Given the description of an element on the screen output the (x, y) to click on. 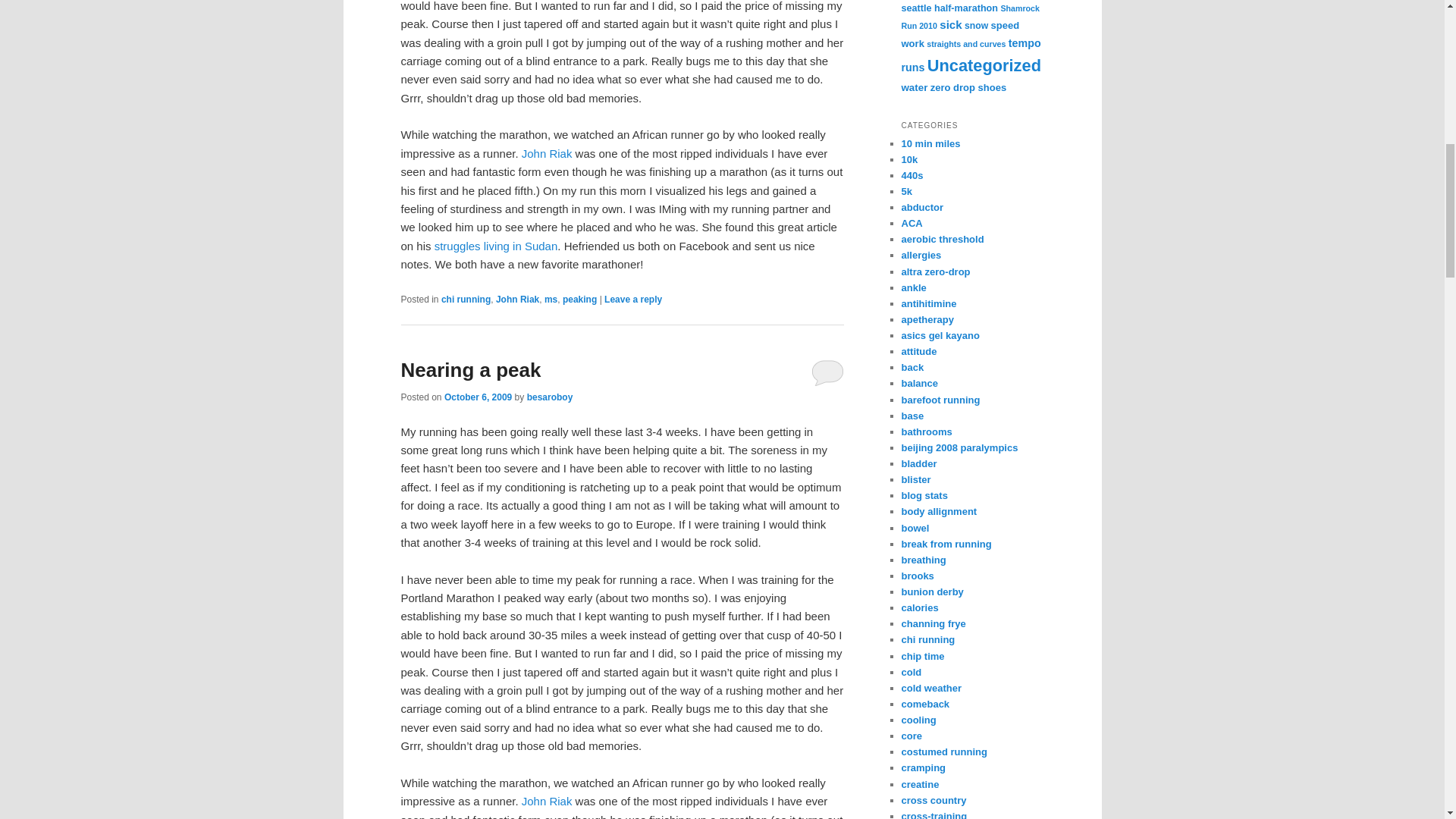
John Riak (546, 153)
John Riak (546, 800)
Nearing a peak (470, 369)
ms (550, 299)
John Riak (517, 299)
10:11 pm (478, 397)
besaroboy (550, 397)
struggles living in Sudan (495, 245)
Leave a reply (633, 299)
View all posts by besaroboy (550, 397)
Permalink to Nearing a peak (470, 369)
October 6, 2009 (478, 397)
chi running (465, 299)
peaking (579, 299)
